Given the description of an element on the screen output the (x, y) to click on. 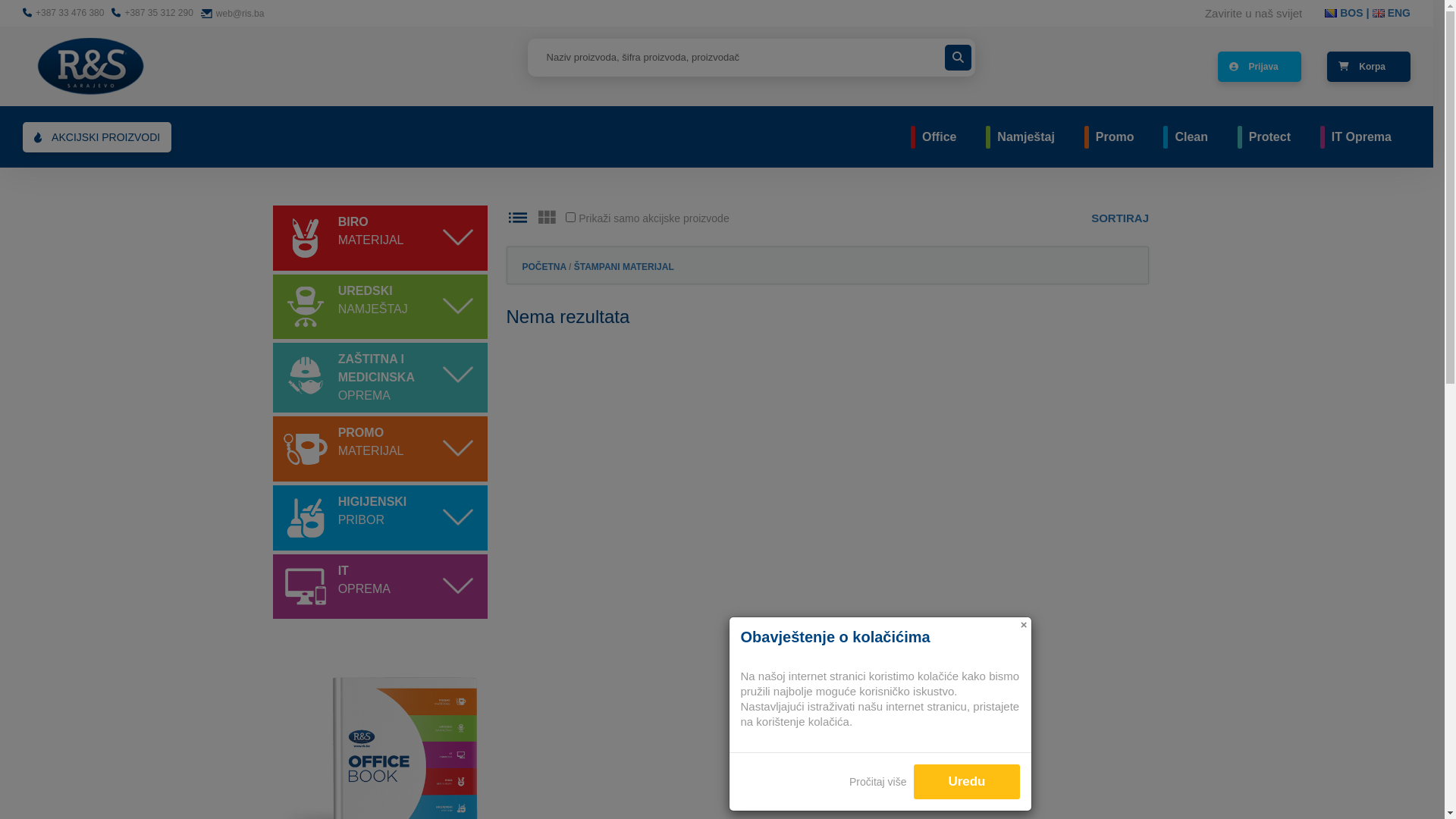
IT Oprema Element type: text (1361, 136)
PROMO
MATERIJAL Element type: text (371, 441)
Office Element type: text (938, 136)
home-page Element type: hover (90, 65)
Protect Element type: text (1269, 136)
Promo Element type: text (1114, 136)
Prijava Element type: text (1259, 66)
Uredu Element type: text (966, 781)
HIGIJENSKI
PRIBOR Element type: text (372, 510)
BIRO
MATERIJAL Element type: text (371, 231)
List prikaz Element type: hover (517, 216)
AKCIJSKI PROIZVODI Element type: text (96, 136)
IT
OPREMA Element type: text (364, 579)
Clean Element type: text (1191, 136)
Korpa Element type: text (1368, 66)
ENG Element type: text (1391, 12)
BOS | Element type: text (1348, 12)
SORTIRAJ Element type: text (1119, 217)
